Given the description of an element on the screen output the (x, y) to click on. 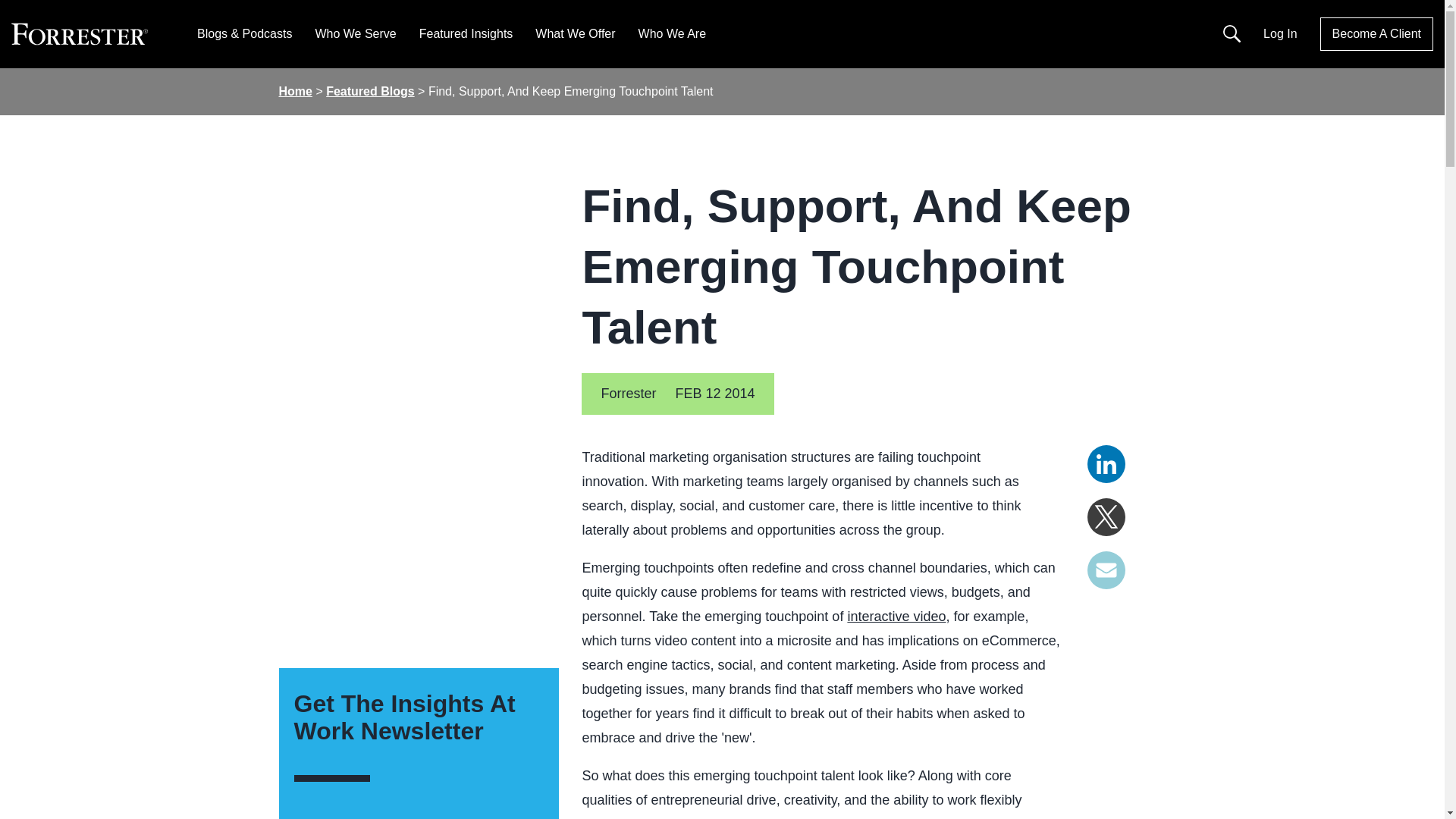
Featured Insights (466, 33)
Who We Serve (355, 33)
What We Offer (574, 33)
